Given the description of an element on the screen output the (x, y) to click on. 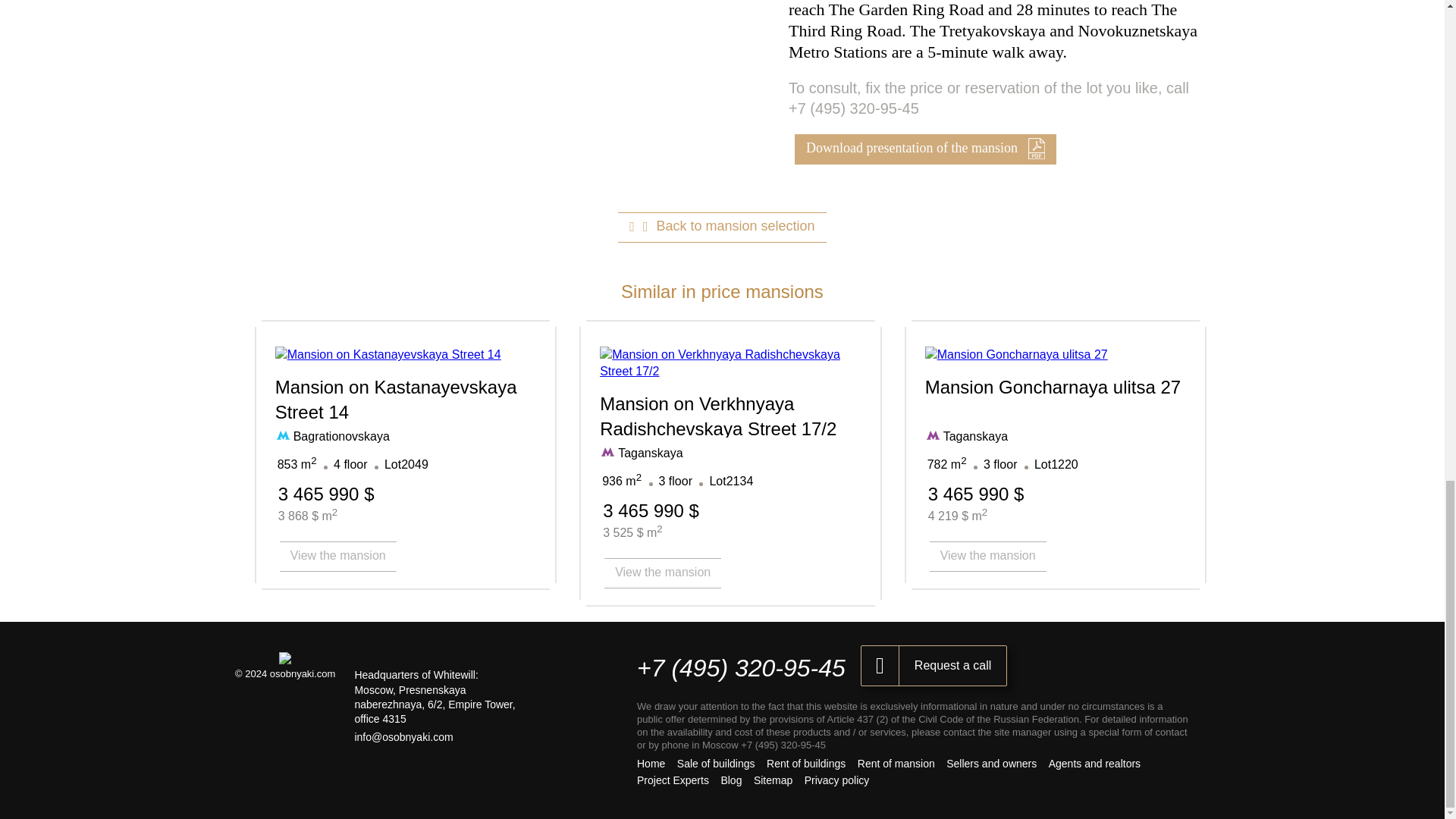
Sale of buildings (716, 763)
Privacy policy (837, 779)
Rent of buildings (806, 763)
Home (651, 763)
Rent of mansion (895, 763)
